Given the description of an element on the screen output the (x, y) to click on. 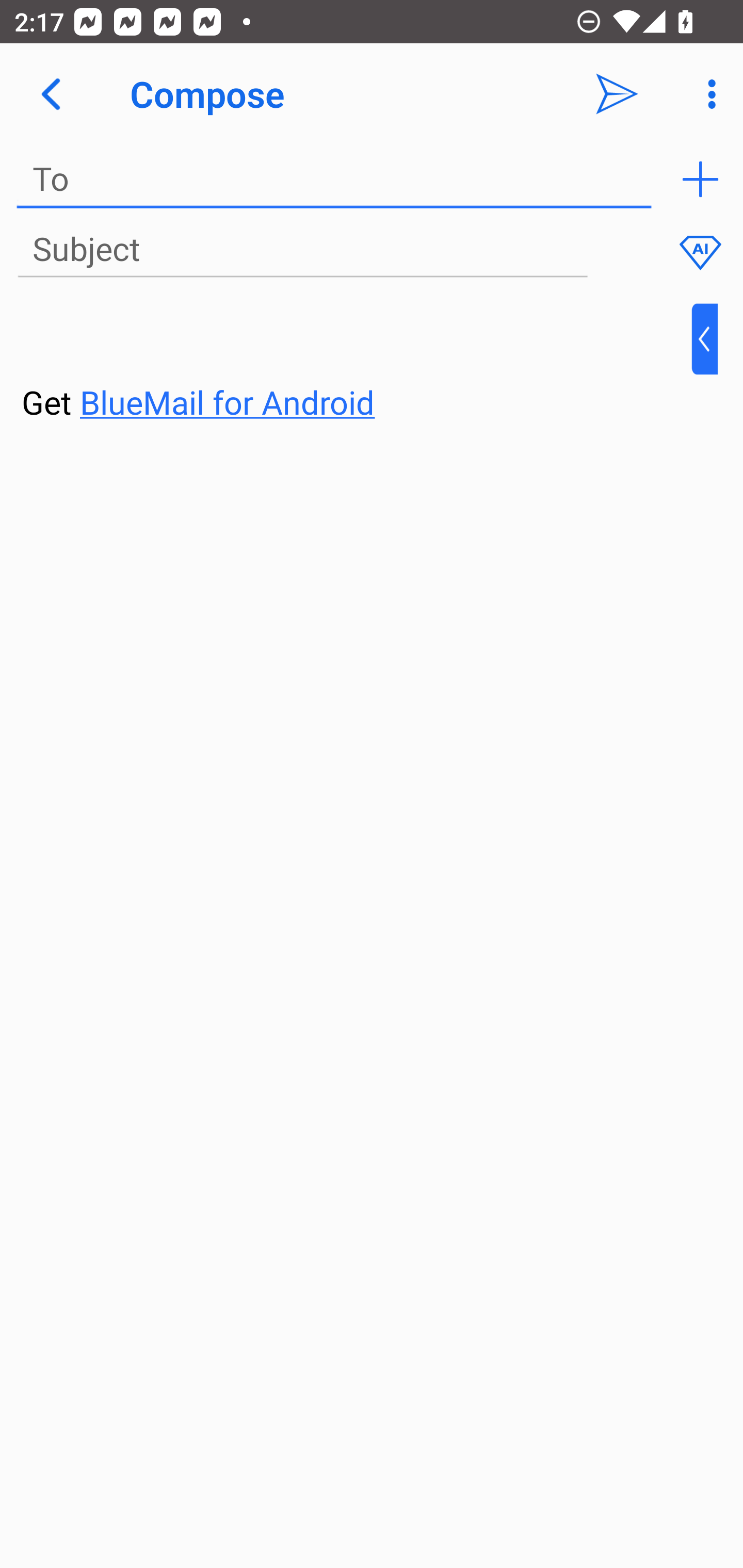
Navigate up (50, 93)
Send (616, 93)
More Options (706, 93)
To (334, 179)
Add recipient (To) (699, 179)
Subject (302, 249)


⁣Get BlueMail for Android ​ (355, 363)
